Given the description of an element on the screen output the (x, y) to click on. 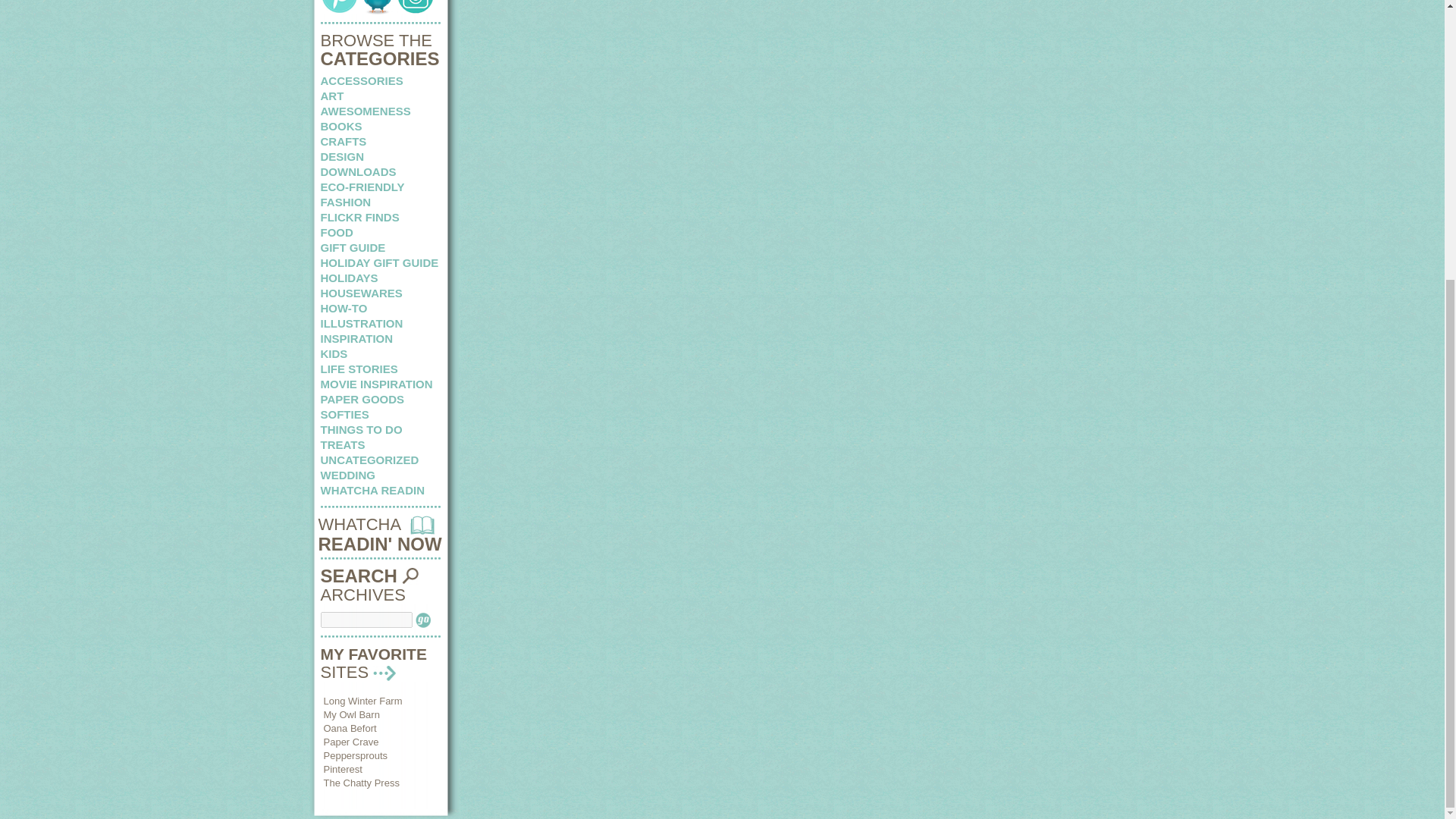
My Owl Barn (350, 714)
GIFT GUIDE (352, 246)
ACCESSORIES (361, 80)
WEDDING (347, 474)
HOW-TO (343, 308)
ILLUSTRATION (361, 323)
TREATS (342, 444)
INSPIRATION (356, 338)
LIFE STORIES (358, 368)
Oana Befort (349, 727)
